Given the description of an element on the screen output the (x, y) to click on. 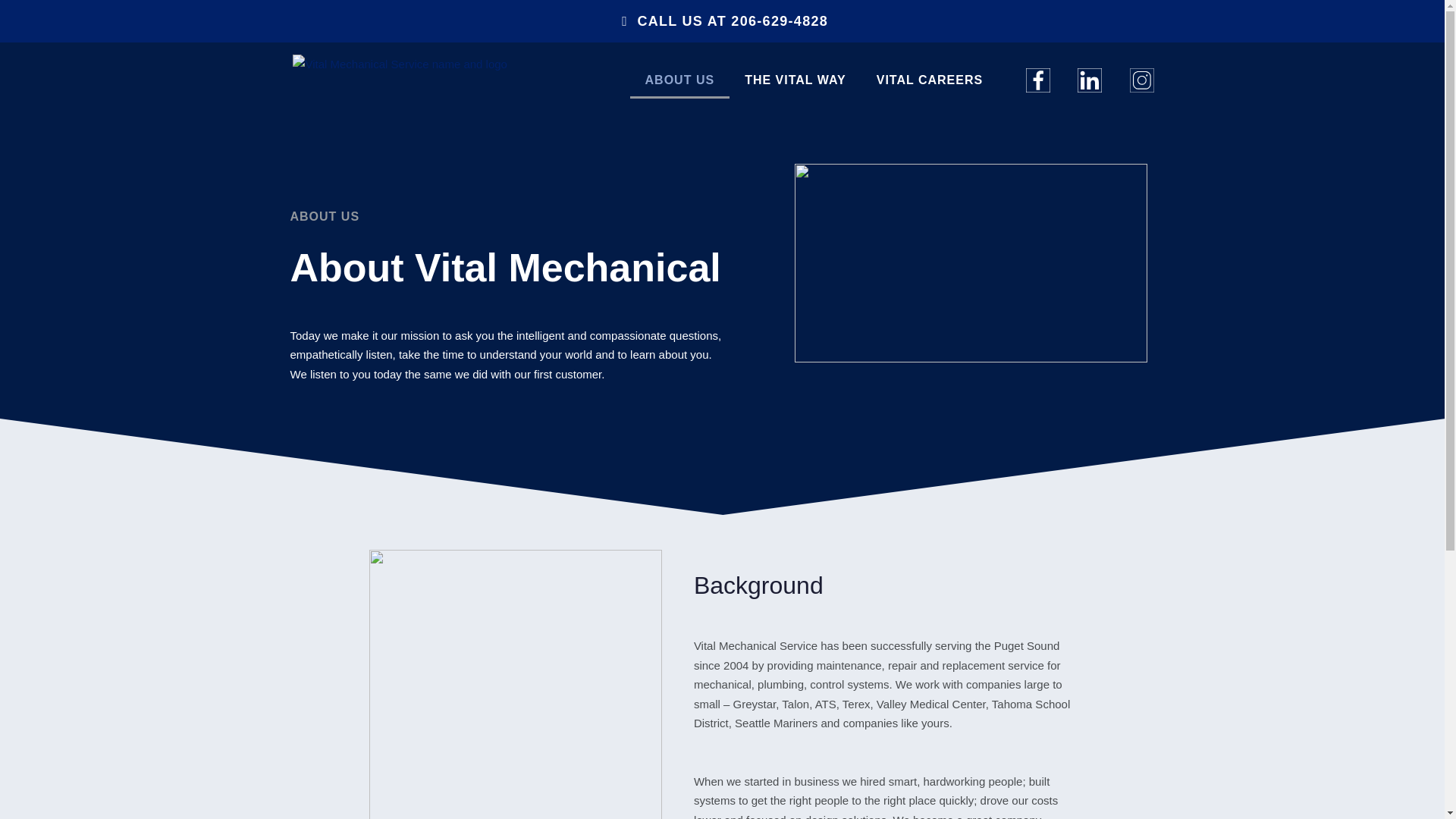
THE VITAL WAY (795, 80)
VITAL CAREERS (929, 80)
CALL US AT 206-629-4828 (721, 21)
ABOUT US (680, 80)
